Given the description of an element on the screen output the (x, y) to click on. 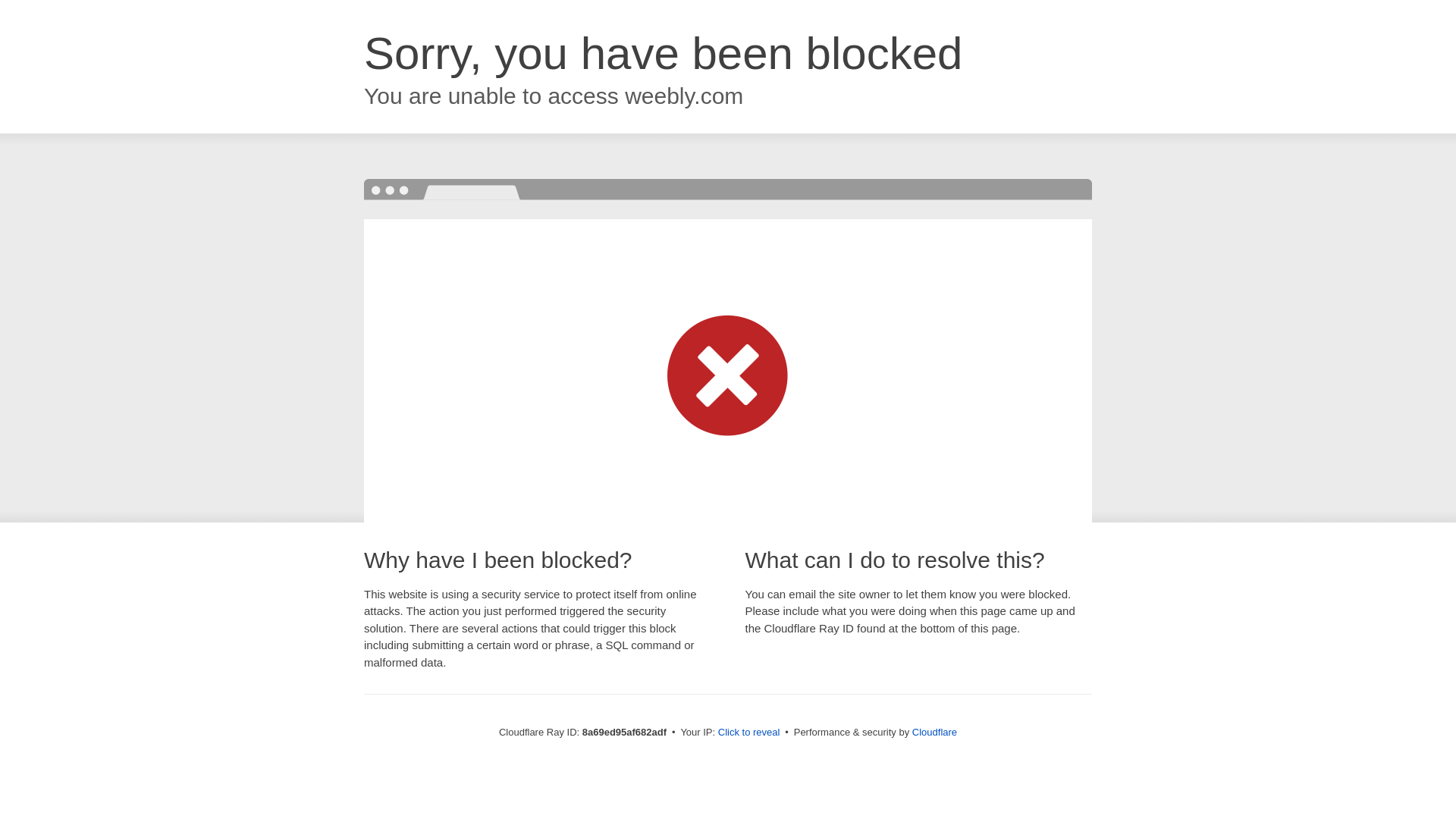
Click to reveal (748, 732)
Cloudflare (934, 731)
